Given the description of an element on the screen output the (x, y) to click on. 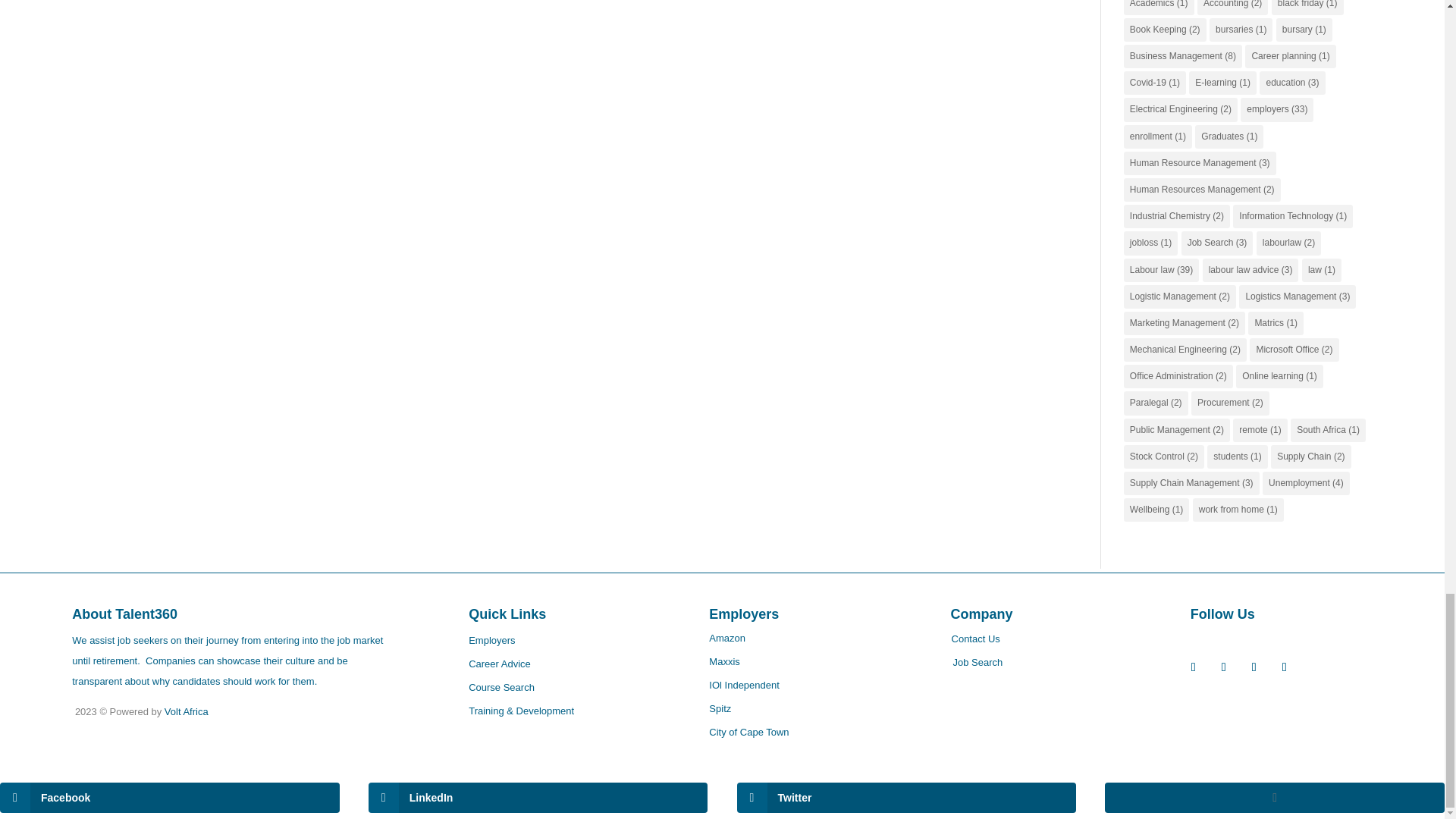
Follow on Facebook (1192, 667)
Follow on LinkedIn (1253, 667)
Follow on Twitter (1223, 667)
Follow on Instagram (1284, 667)
